Given the description of an element on the screen output the (x, y) to click on. 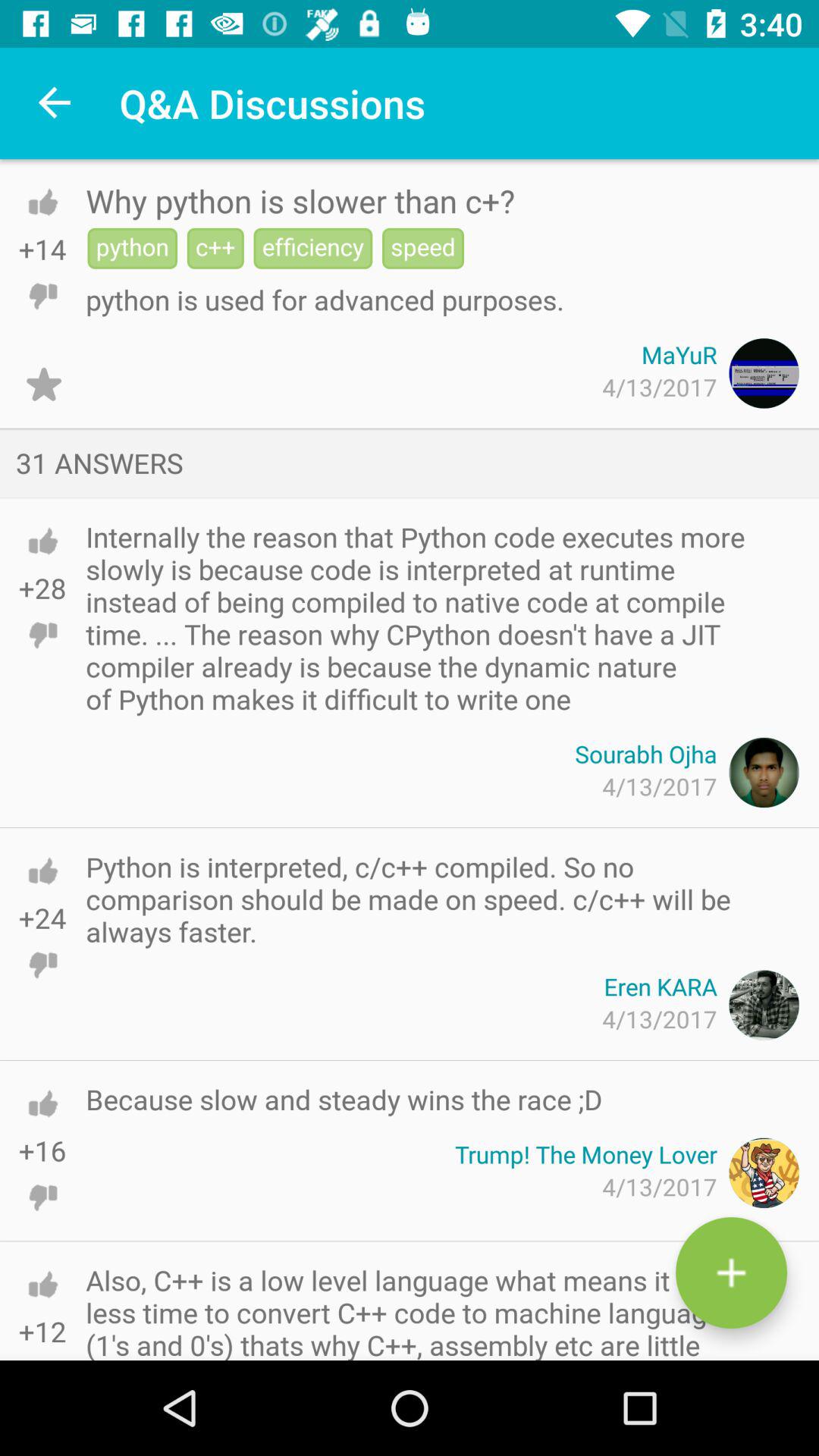
like button to the answer (42, 870)
